Given the description of an element on the screen output the (x, y) to click on. 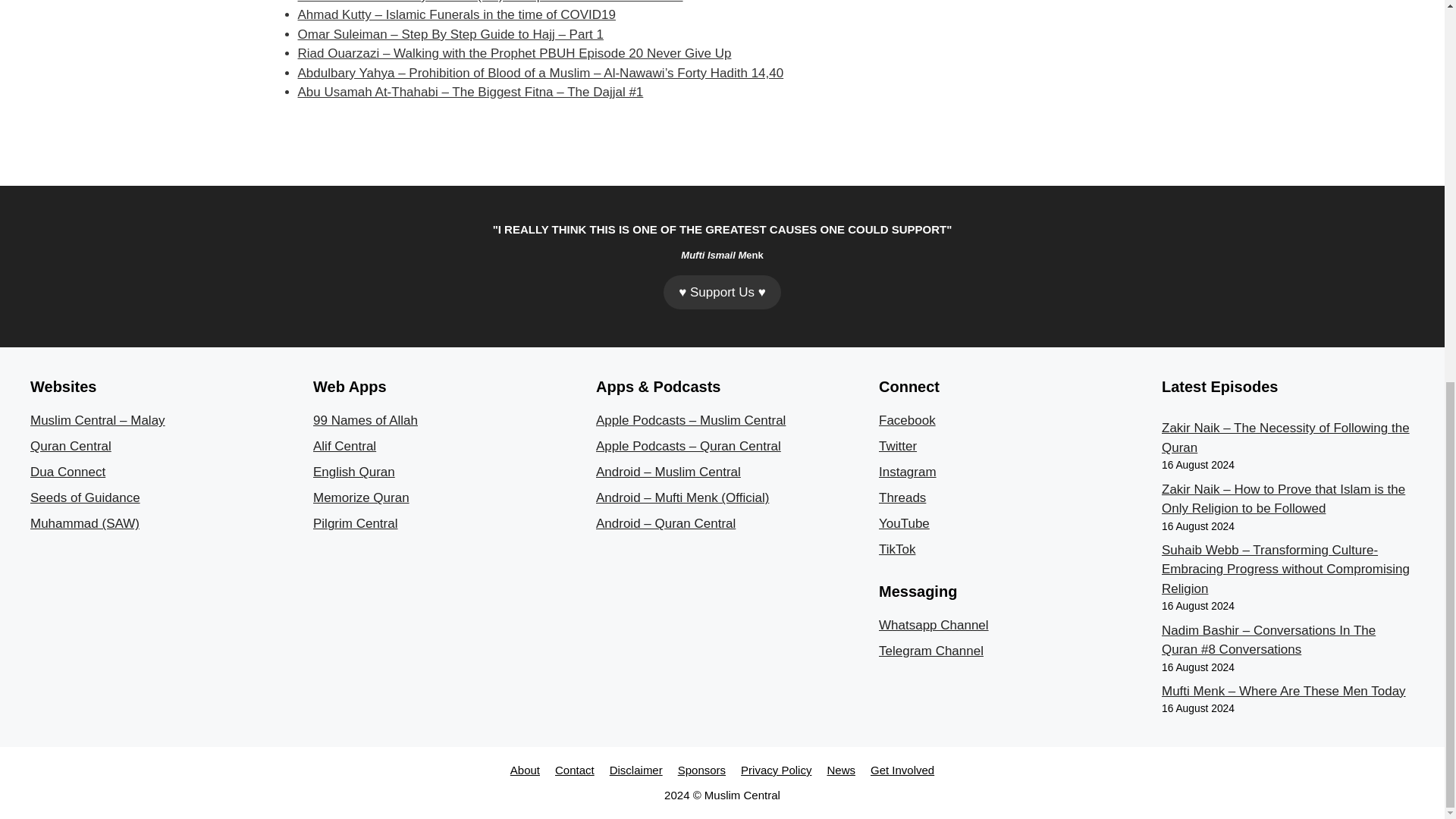
99 Names of Allah (365, 420)
English Quran (353, 472)
Dua Connect (67, 472)
Quran Central (71, 445)
Memorize Quran (361, 497)
Seeds of Guidance (84, 497)
Alif Central (344, 445)
